Given the description of an element on the screen output the (x, y) to click on. 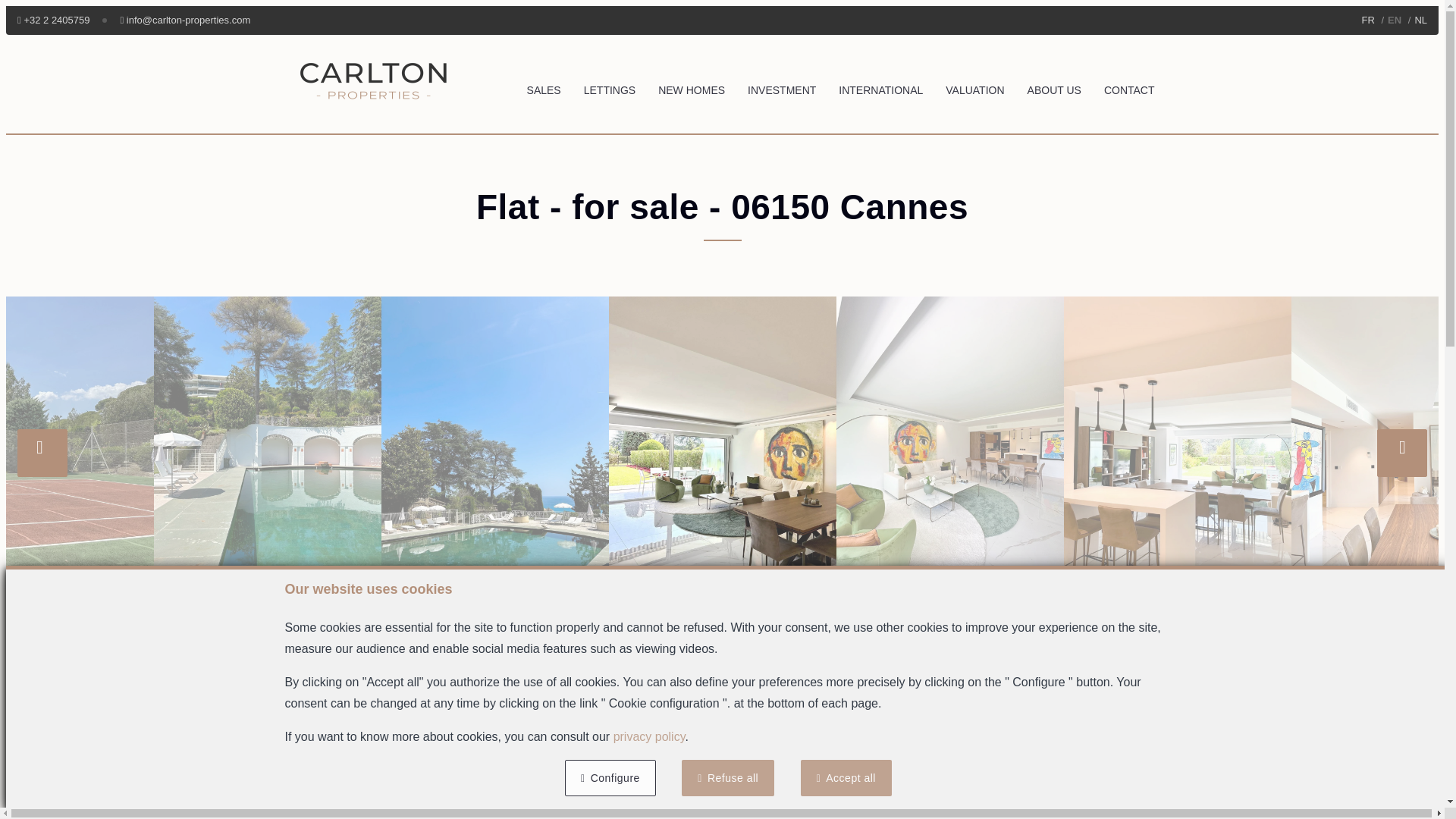
LETTINGS (608, 89)
NEW HOMES (691, 89)
NL (1419, 19)
INVESTMENT (781, 89)
VALUATION (974, 89)
CONTACT (1128, 89)
EN (1393, 19)
FR (1367, 19)
ABOUT US (1054, 89)
SALES (543, 89)
INTERNATIONAL (880, 89)
